Given the description of an element on the screen output the (x, y) to click on. 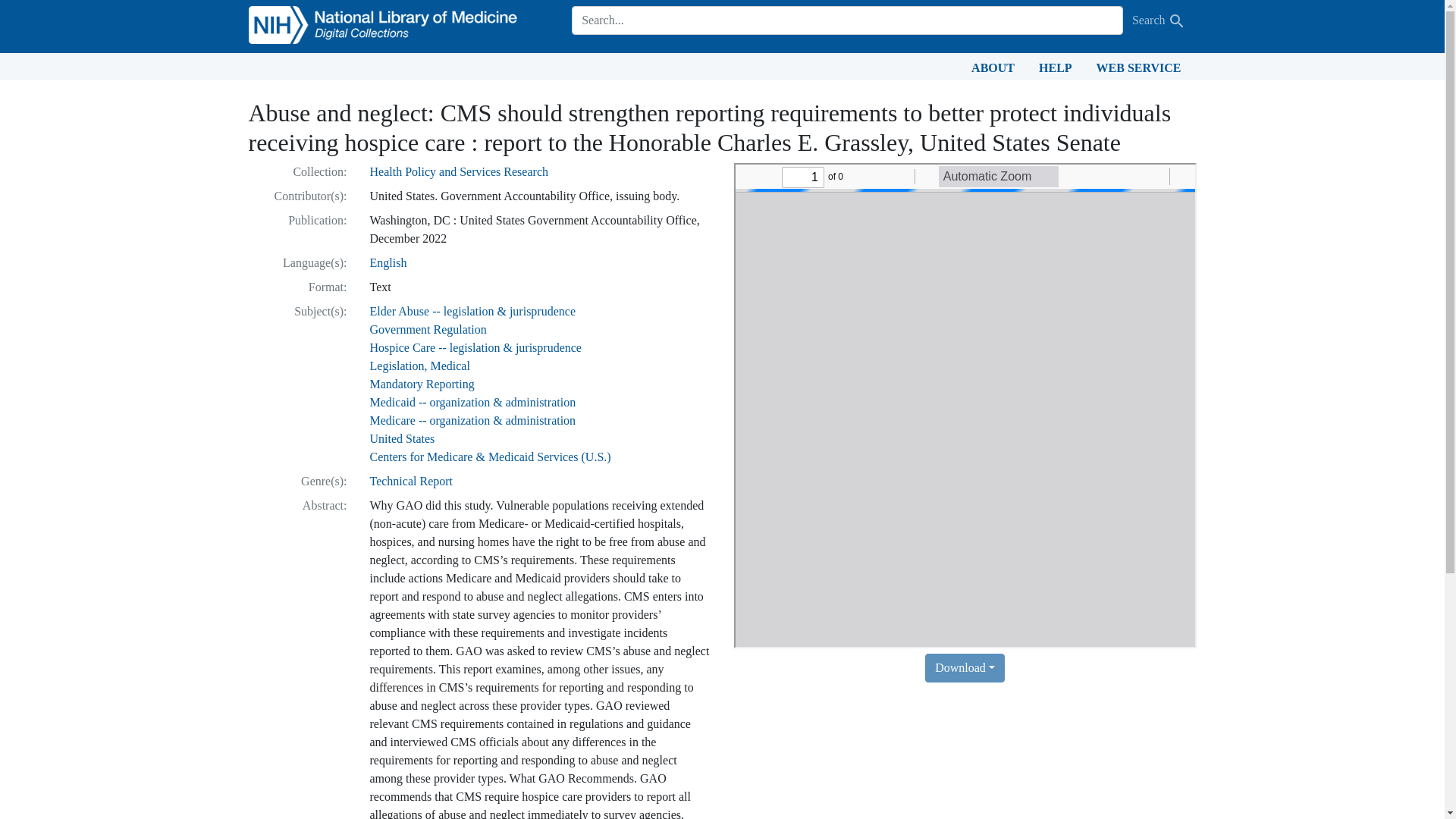
Download (964, 667)
Mandatory Reporting (421, 383)
English (388, 262)
United States (402, 438)
Search (1176, 21)
Government Regulation (427, 328)
Health Policy and Services Research (458, 171)
HELP (1055, 66)
ABOUT (992, 66)
Legislation, Medical (419, 365)
Search Search (1159, 20)
WEB SERVICE (1138, 66)
Technical Report (410, 481)
